Given the description of an element on the screen output the (x, y) to click on. 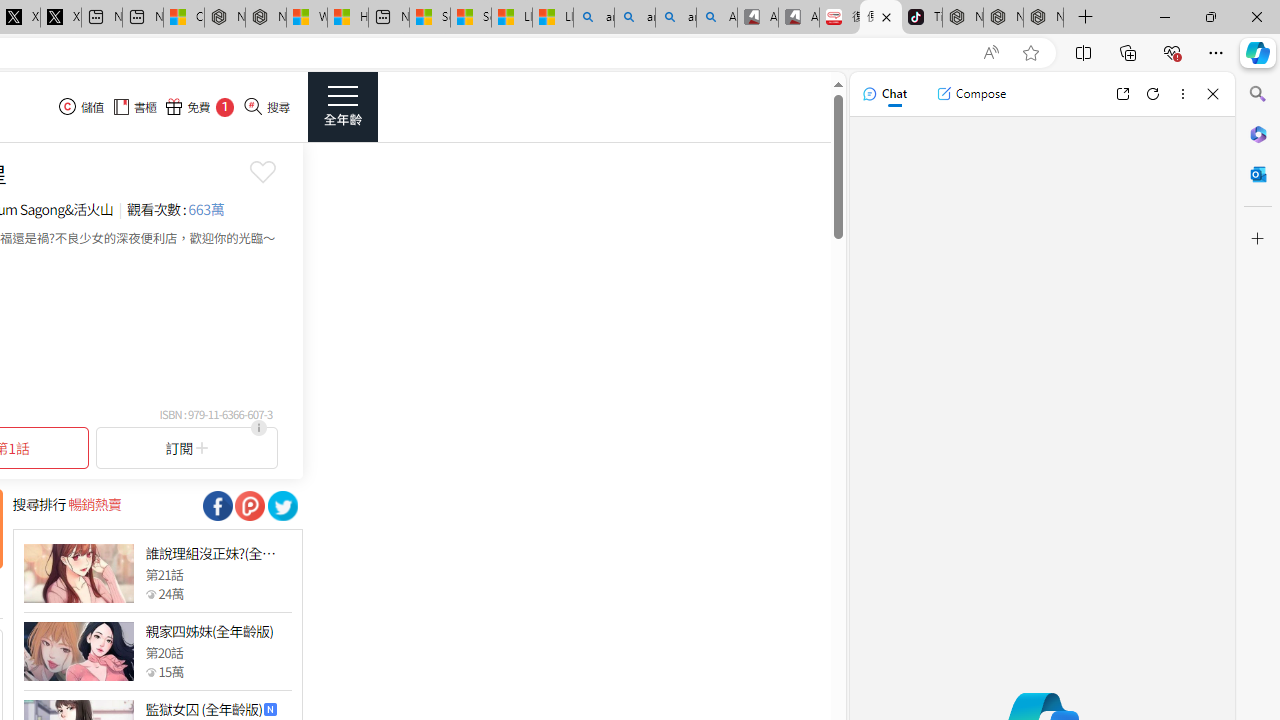
Class: thumb_img (78, 651)
Nordace - Siena Pro 15 Essential Set (1043, 17)
